Given the description of an element on the screen output the (x, y) to click on. 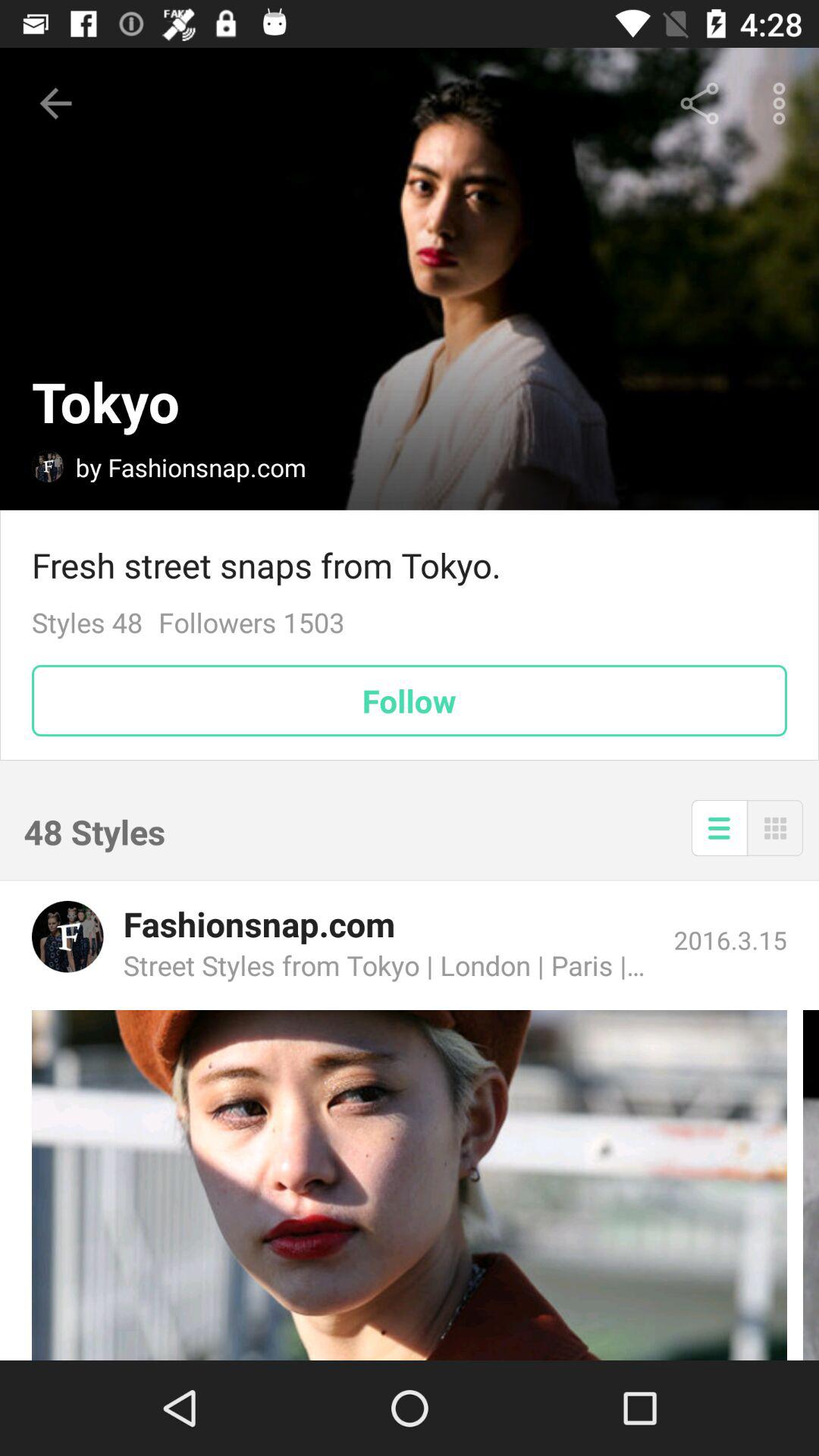
click the icon above fresh street snaps item (699, 103)
